Given the description of an element on the screen output the (x, y) to click on. 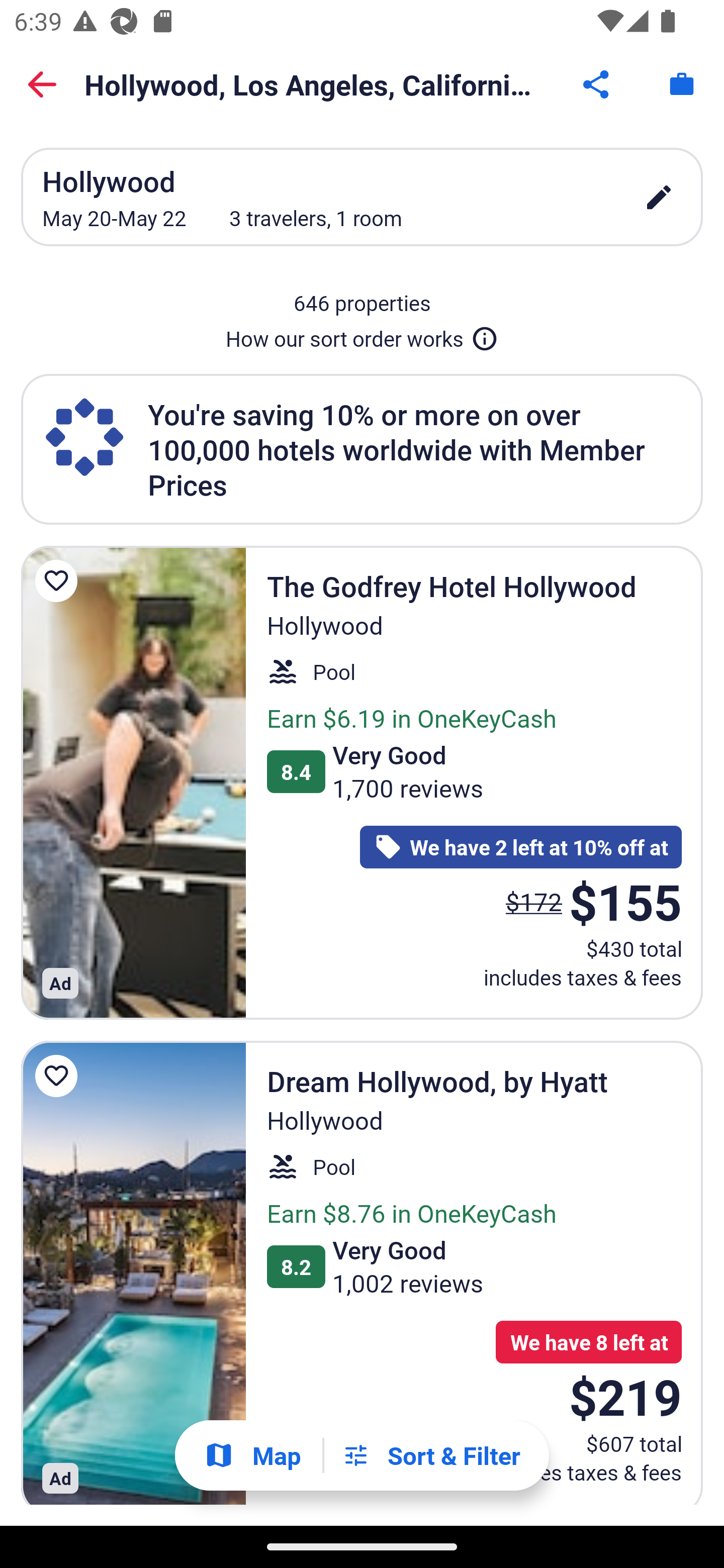
Back (42, 84)
Share Button (597, 84)
Trips. Button (681, 84)
Hollywood May 20-May 22 3 travelers, 1 room edit (361, 196)
How our sort order works (361, 334)
Save The Godfrey Hotel Hollywood to a trip (59, 580)
The Godfrey Hotel Hollywood (133, 782)
$172 The price was $172 (533, 901)
Save Dream Hollywood, by Hyatt to a trip (59, 1075)
Dream Hollywood, by Hyatt (133, 1273)
Filters Sort & Filter Filters Button (430, 1455)
Show map Map Show map Button (252, 1455)
